Given the description of an element on the screen output the (x, y) to click on. 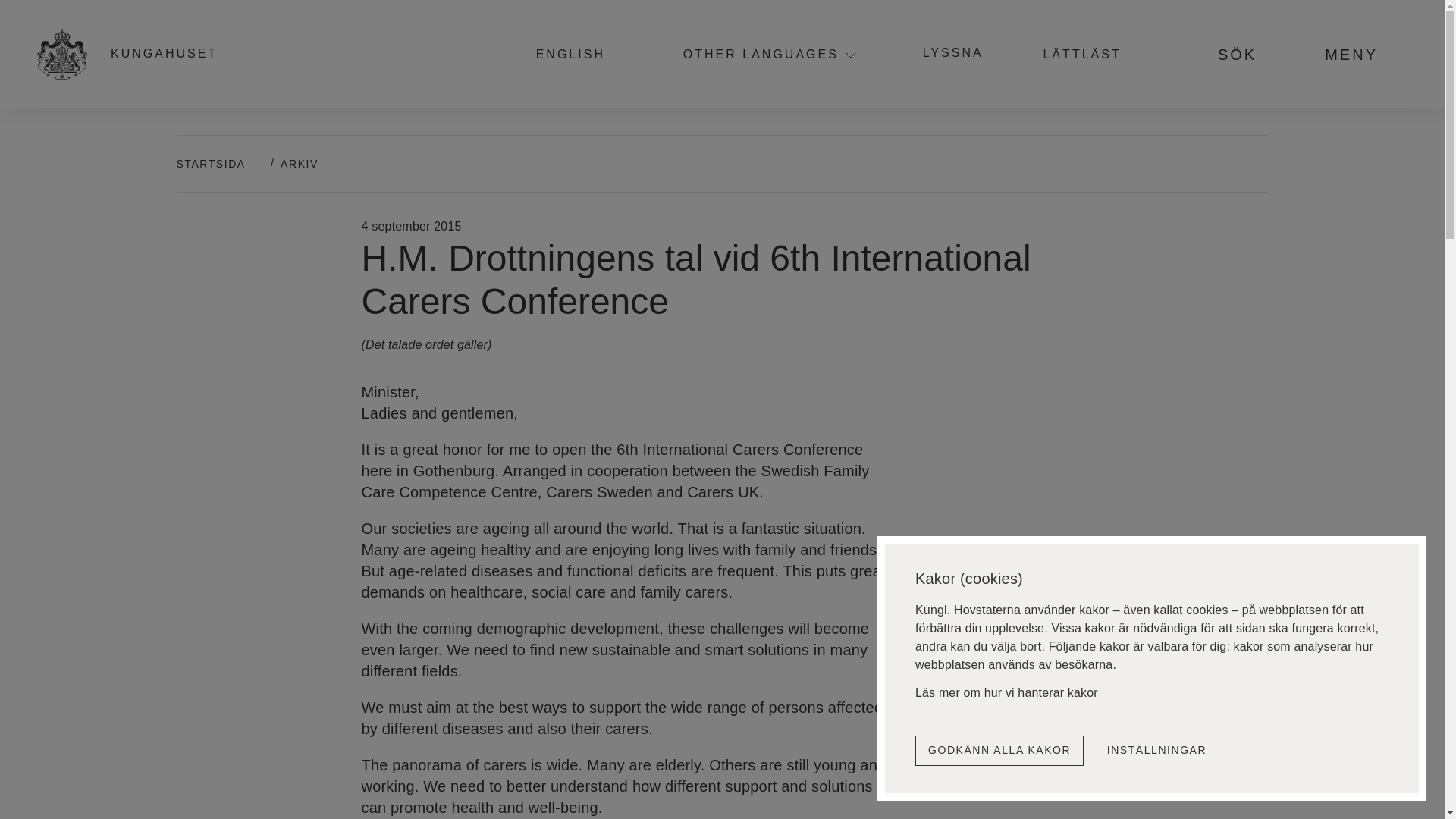
LYSSNA (953, 51)
KUNGAHUSET (135, 53)
MENY (1365, 54)
ENGLISH (579, 53)
OTHER LANGUAGES (762, 54)
